Given the description of an element on the screen output the (x, y) to click on. 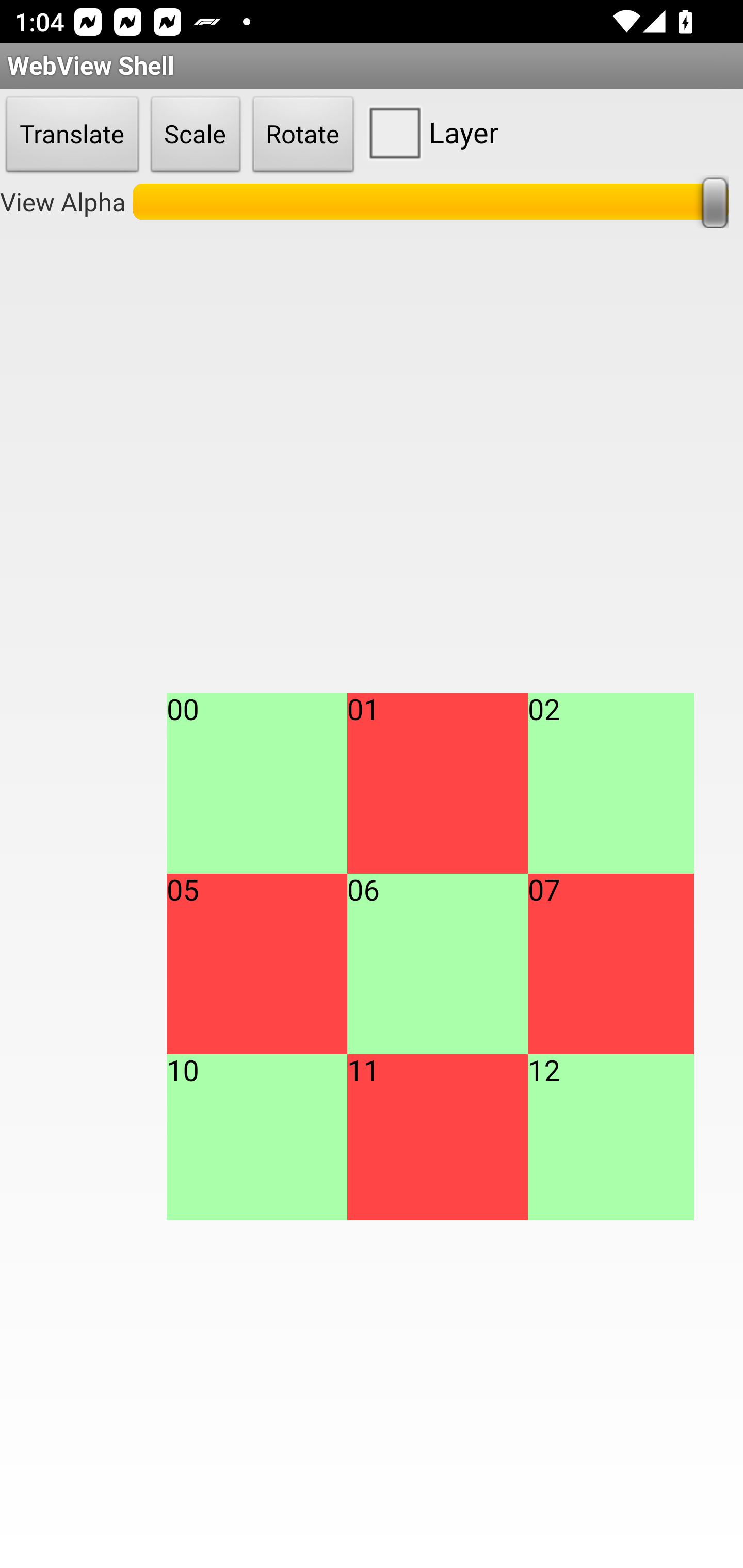
Layer (429, 132)
Translate (72, 135)
Scale (195, 135)
Rotate (303, 135)
